Given the description of an element on the screen output the (x, y) to click on. 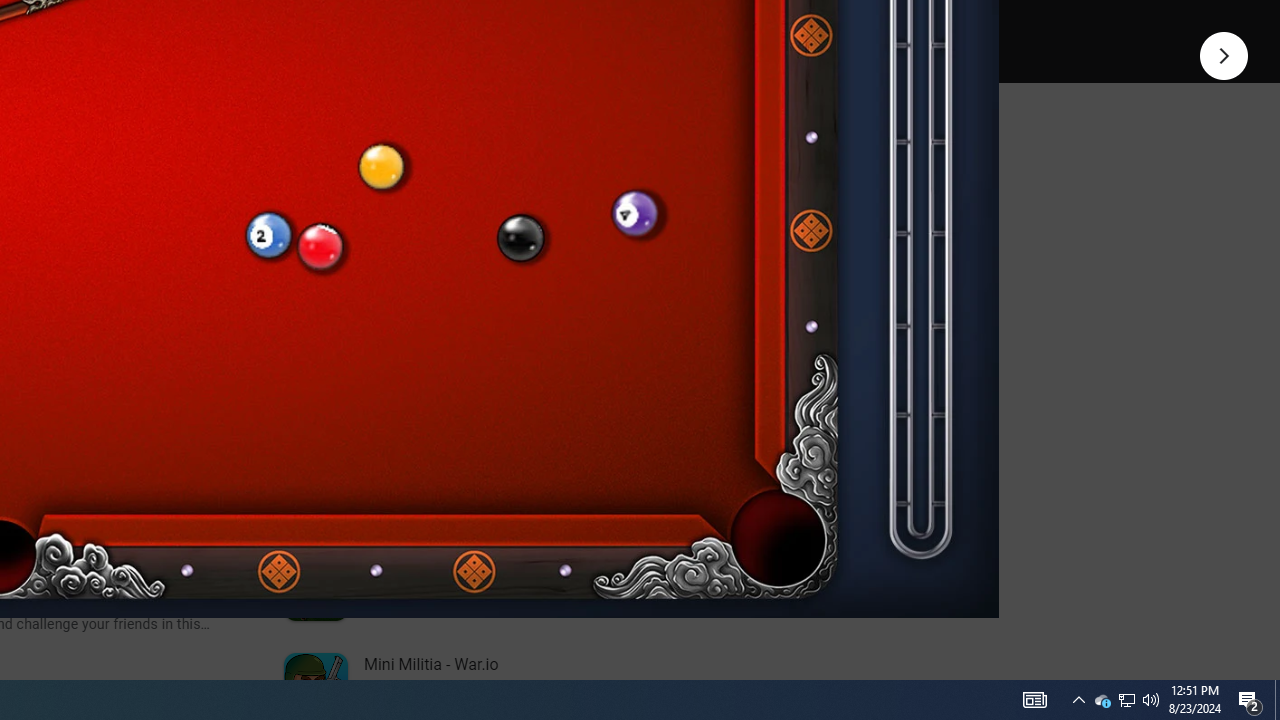
Next (1224, 54)
See more information on More by Miniclip.com (530, 229)
Play trailer (587, 24)
Expand (441, 155)
Scroll Next (212, 272)
